Given the description of an element on the screen output the (x, y) to click on. 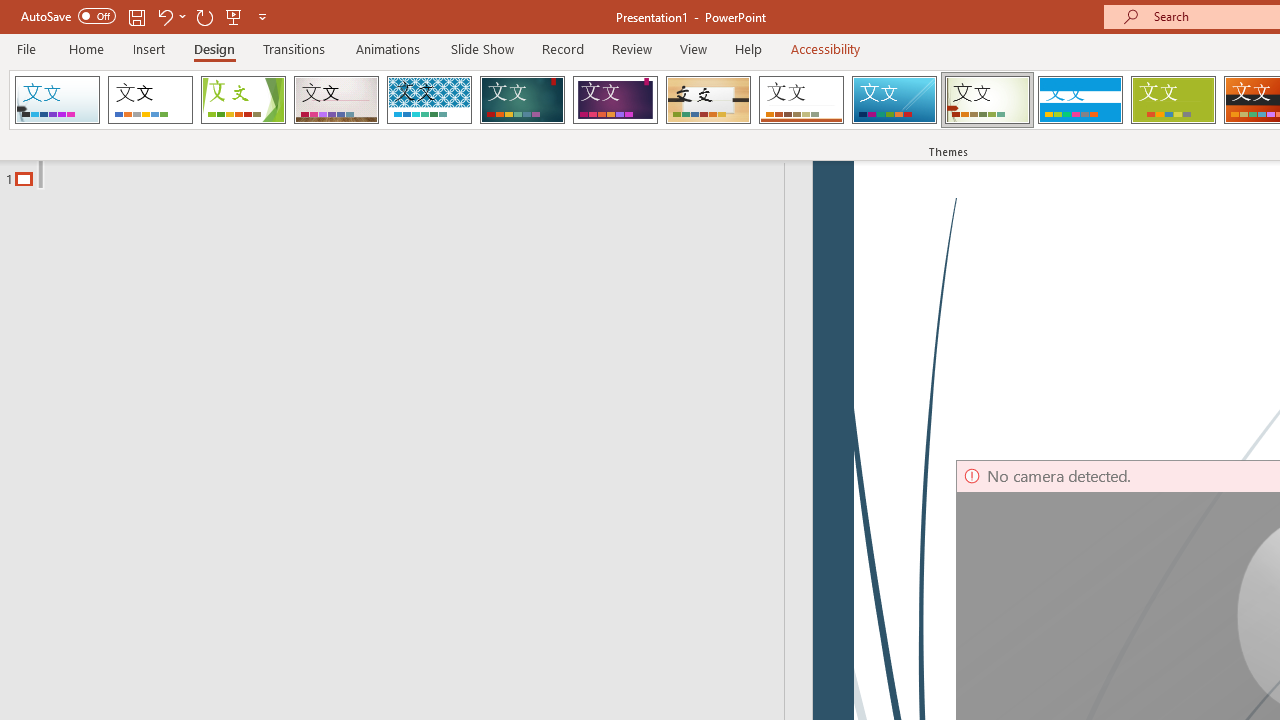
Retrospect (801, 100)
Banded (1080, 100)
Facet (243, 100)
Integral (429, 100)
Basis (1172, 100)
Outline (401, 174)
Ion Boardroom (615, 100)
